Given the description of an element on the screen output the (x, y) to click on. 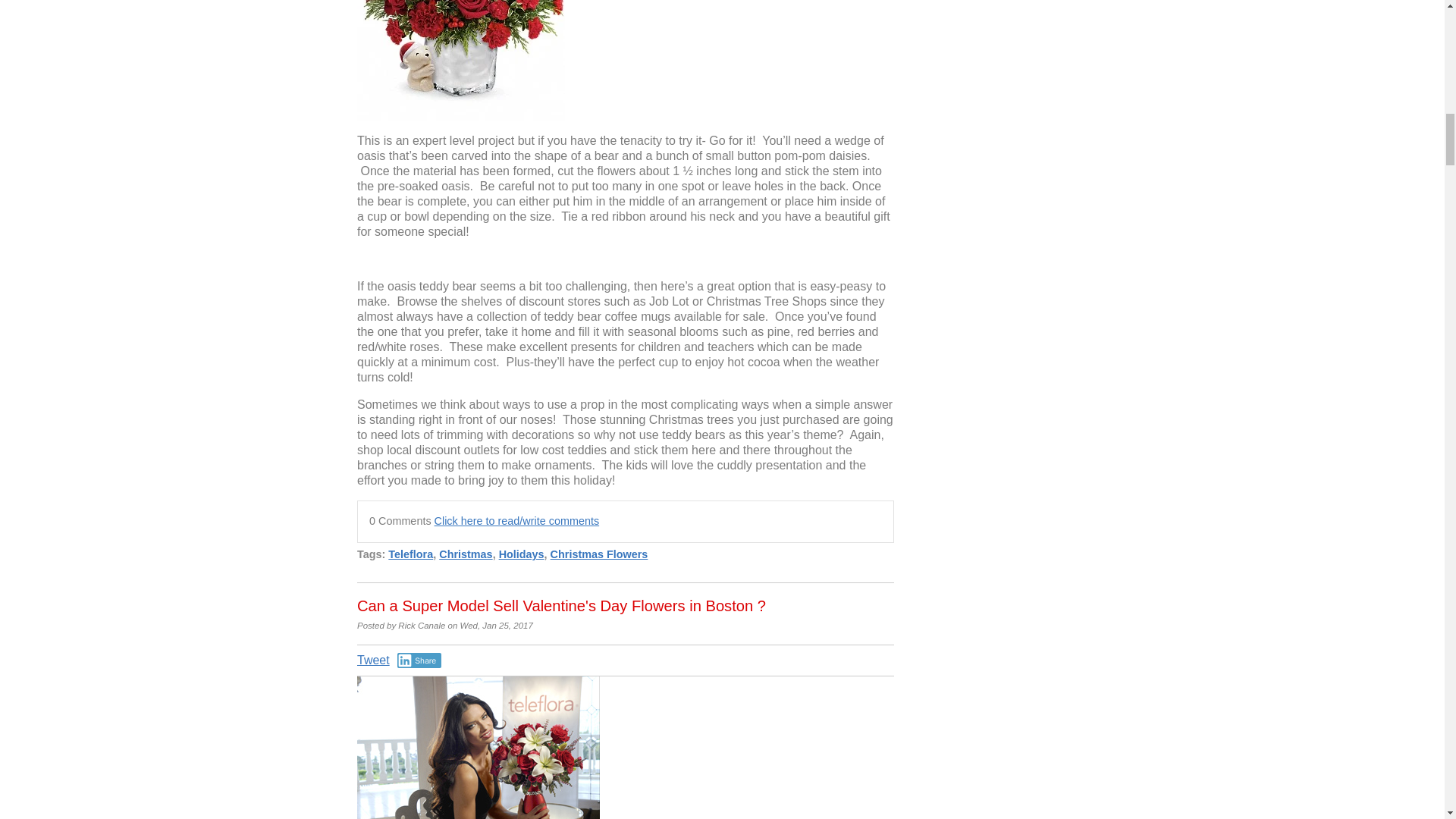
Teleflora (410, 553)
Share (419, 660)
Can a Super Model Sell Valentine's Day Flowers in Boston ? (560, 605)
Christmas Flowers (598, 553)
Tweet (373, 659)
Christmas (465, 553)
Holidays (521, 553)
